Given the description of an element on the screen output the (x, y) to click on. 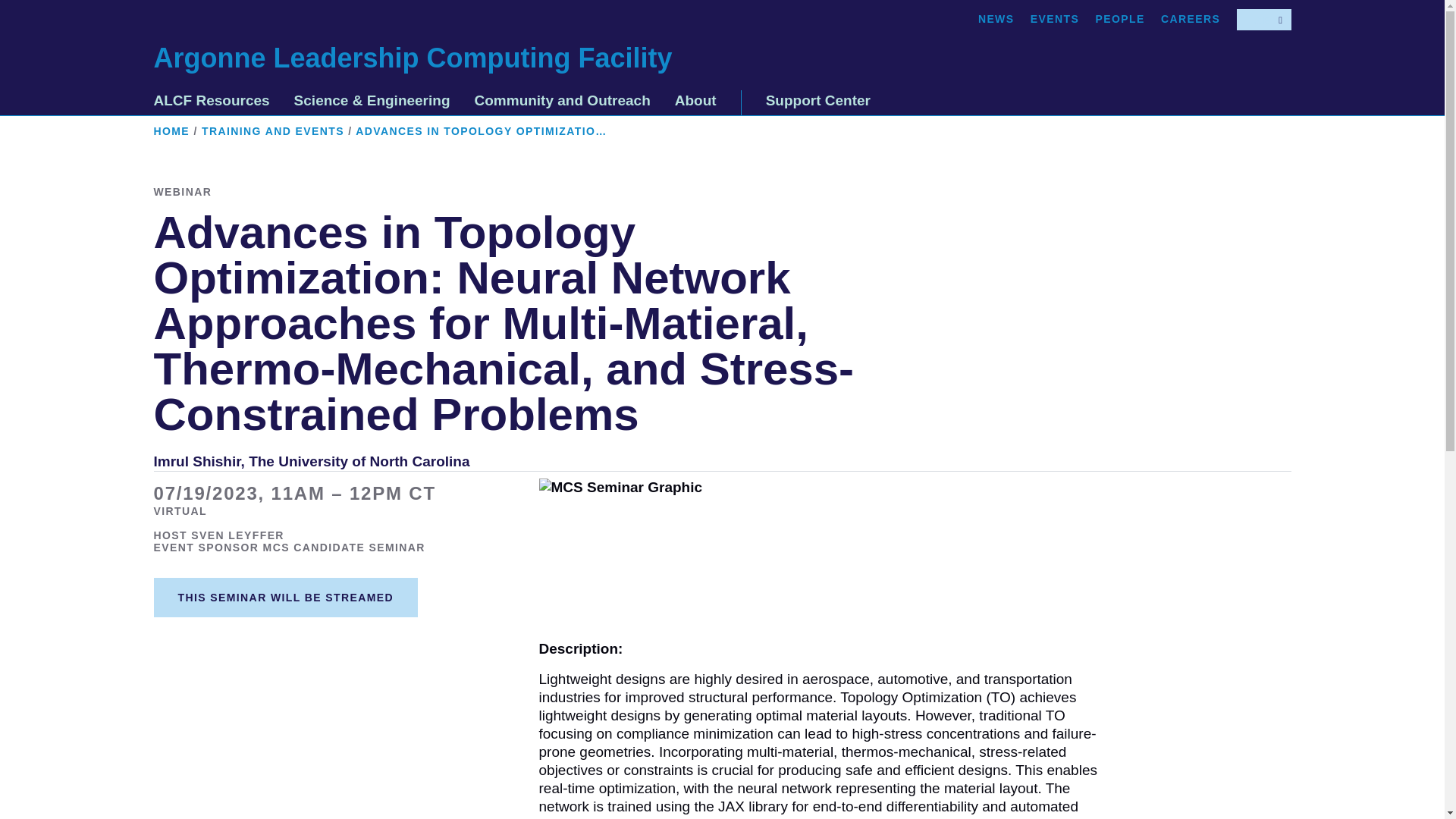
About (695, 106)
ALCF Resources (210, 106)
Community and Outreach (562, 106)
Argonne Leadership Computing Facility (411, 57)
ALCF Home (411, 57)
